Given the description of an element on the screen output the (x, y) to click on. 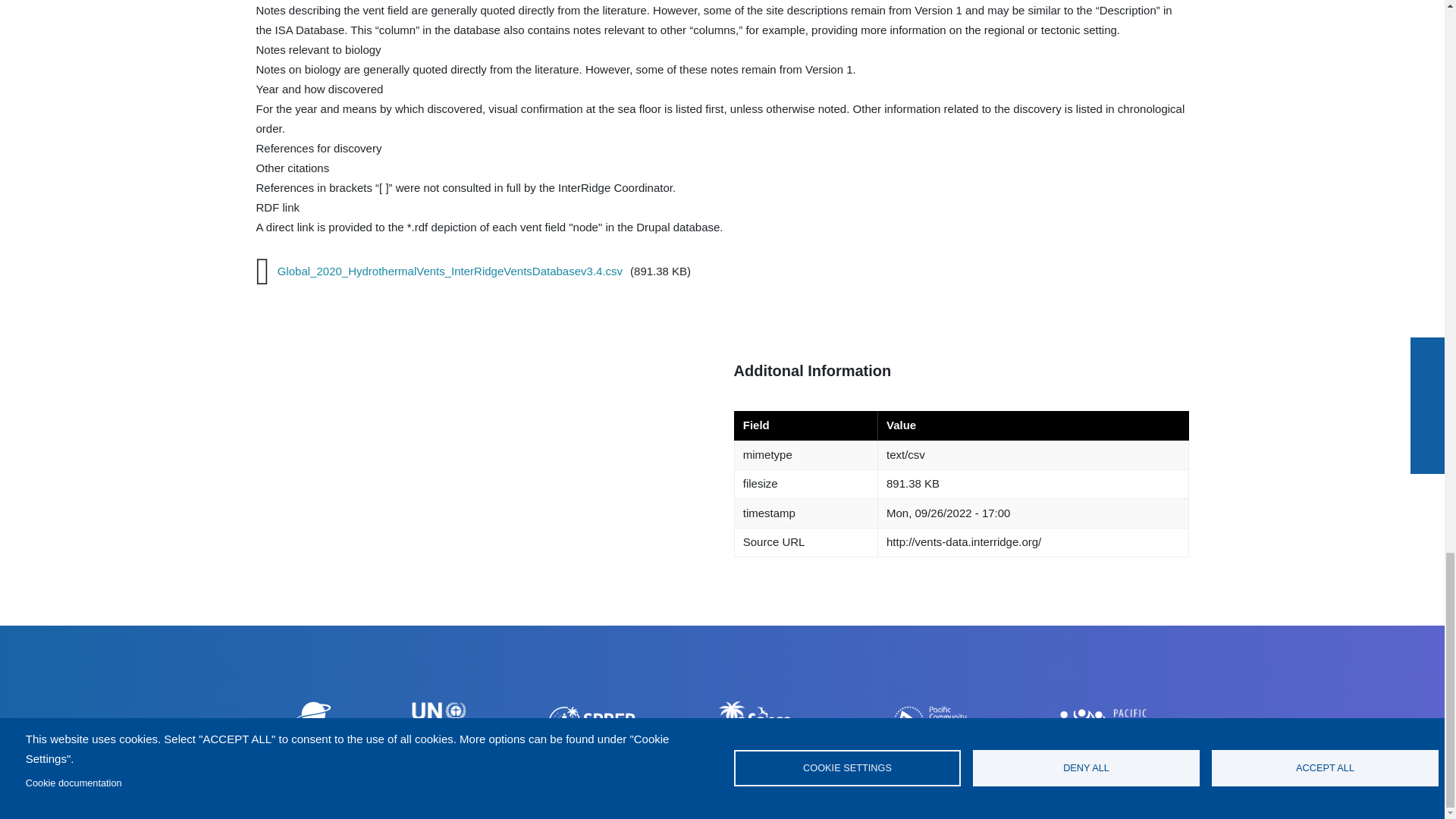
United Nations Environment Programme (438, 721)
Pacific Data Hub (1103, 722)
Inform Project (761, 721)
Pacific Community (932, 721)
Pacific Regional Environment Programme (592, 721)
